Given the description of an element on the screen output the (x, y) to click on. 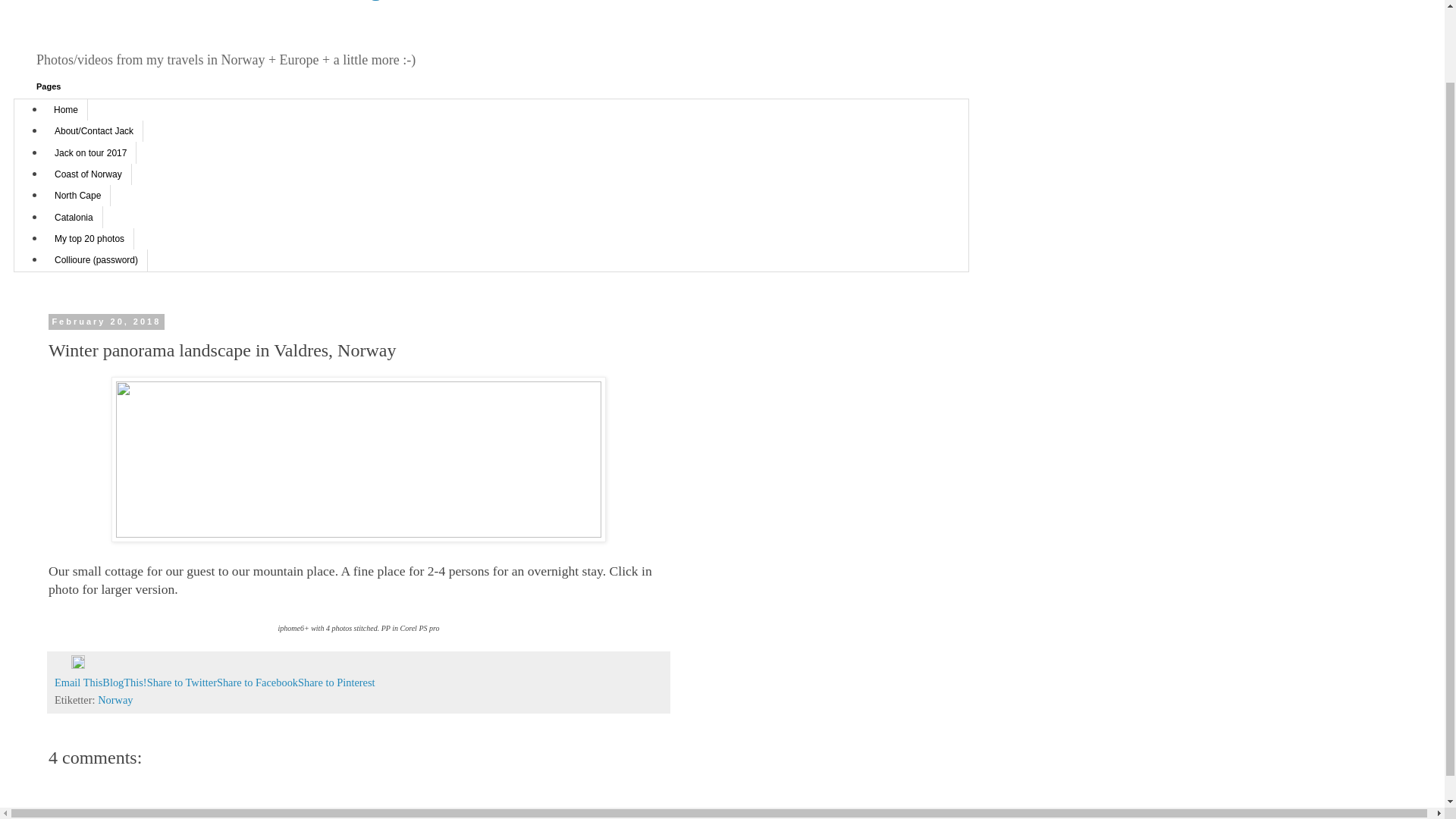
Email This (78, 682)
Share to Pinterest (336, 682)
Email Post (63, 664)
Home (66, 109)
BlogThis! (124, 682)
Catalonia (74, 216)
Share to Pinterest (336, 682)
Share to Facebook (257, 682)
BlogThis! (124, 682)
My top 20 photos (89, 238)
